Given the description of an element on the screen output the (x, y) to click on. 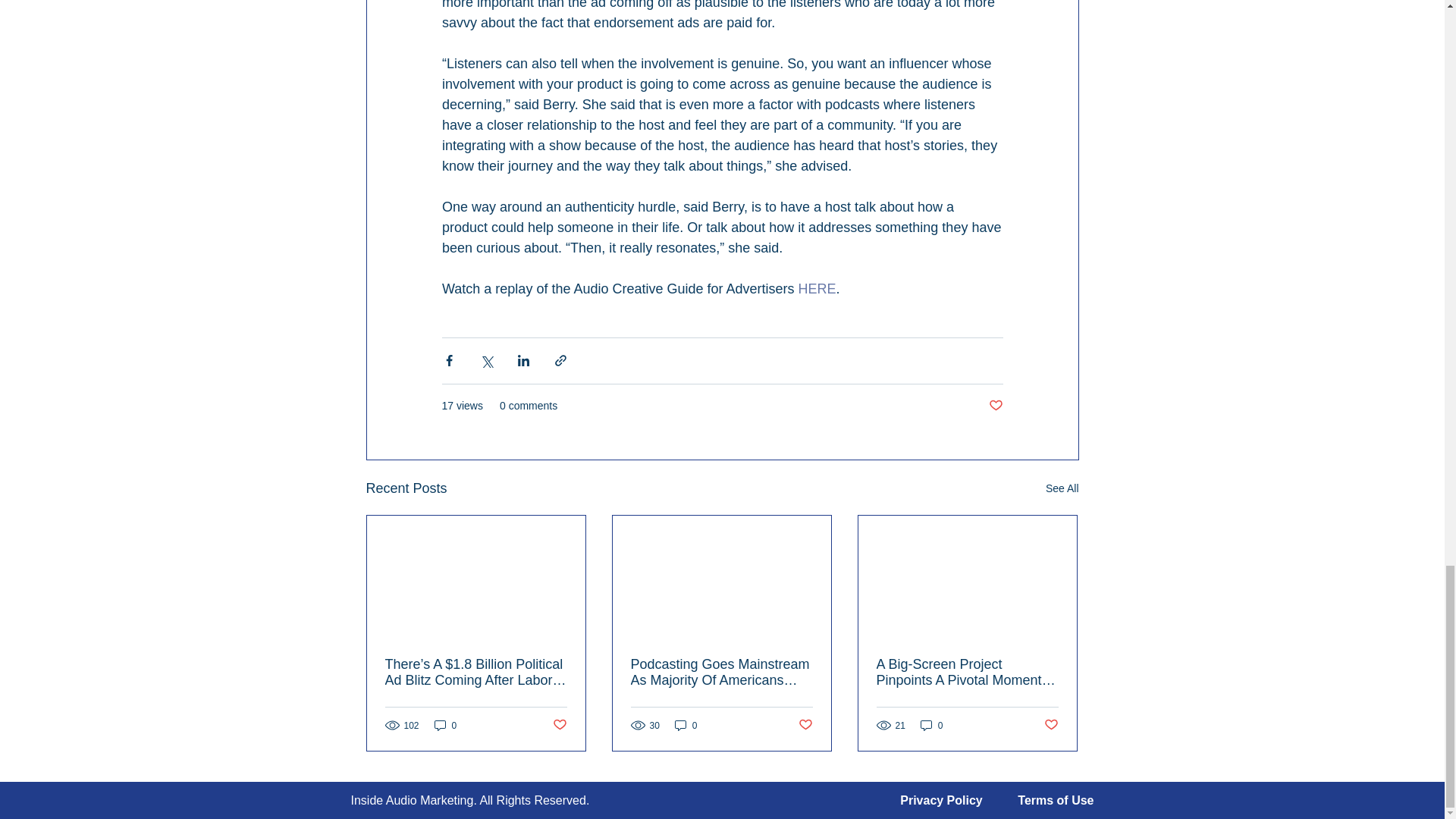
Terms of Use (1055, 799)
Inside Audio Marketing. All Rights Reserved. (469, 799)
Post not marked as liked (1050, 725)
Privacy Policy (940, 799)
0 (685, 725)
0 (931, 725)
HERE (816, 288)
0 (445, 725)
